Given the description of an element on the screen output the (x, y) to click on. 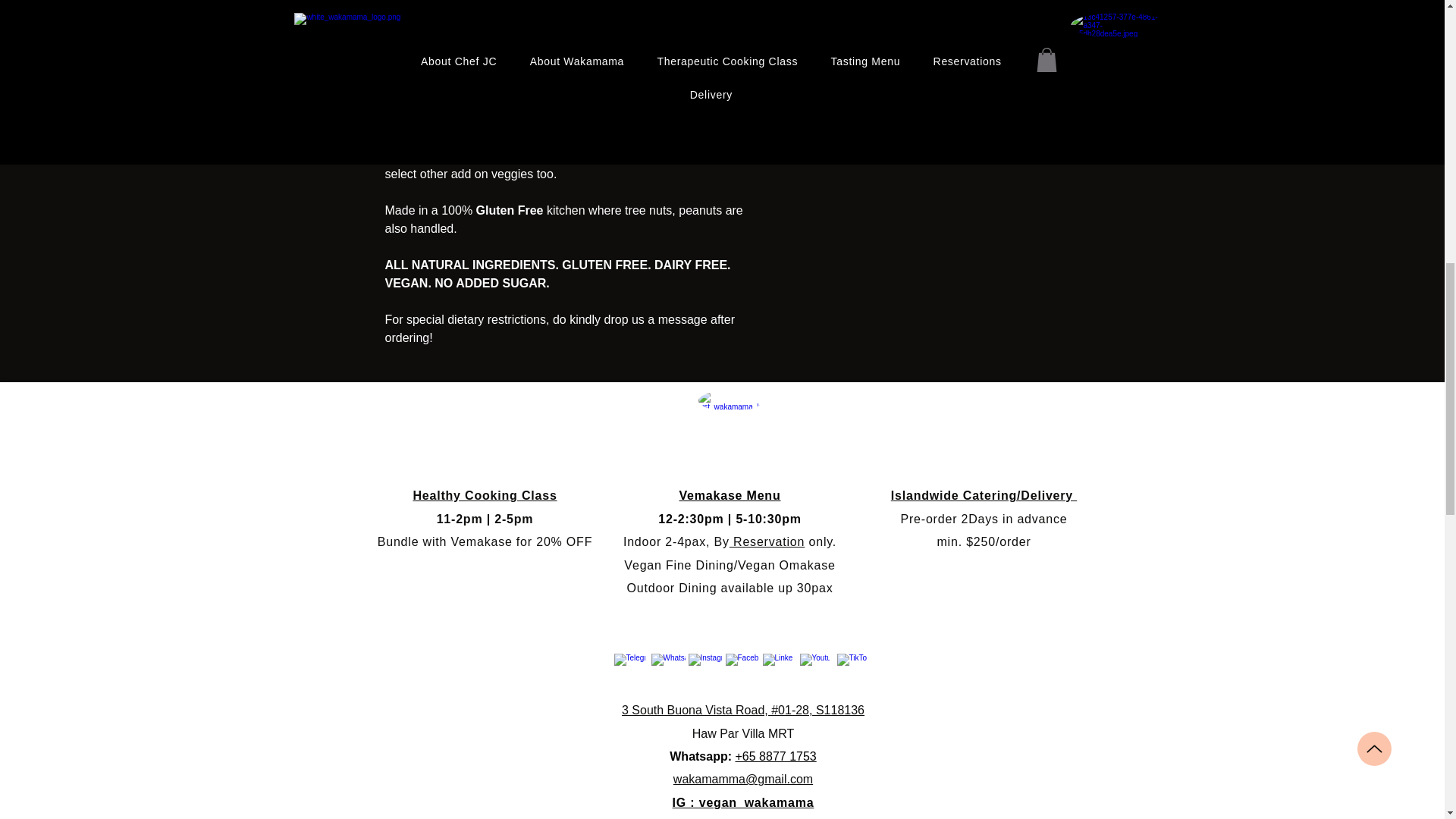
Reservation (767, 541)
Vemakase Menu (729, 495)
Healthy Cooking Class (484, 495)
